Given the description of an element on the screen output the (x, y) to click on. 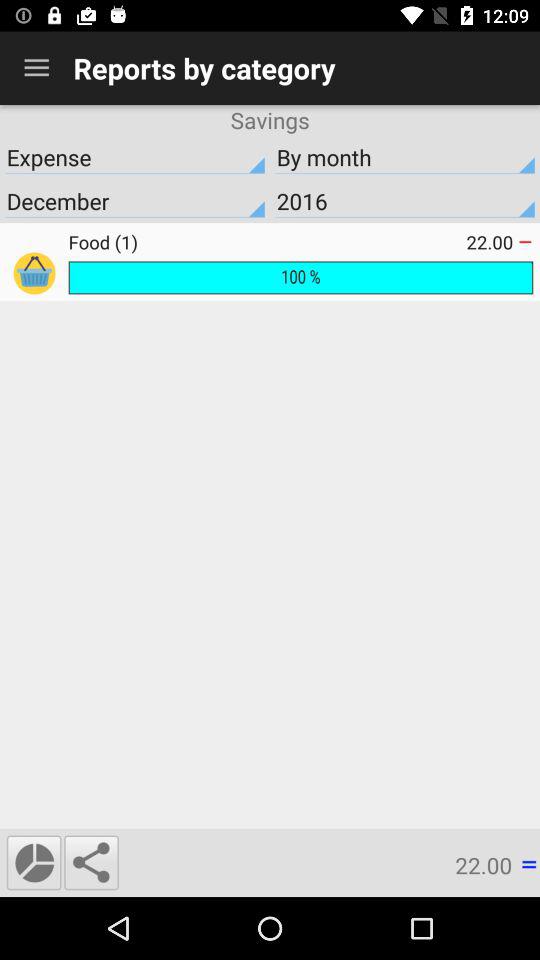
scroll to by month item (405, 157)
